Given the description of an element on the screen output the (x, y) to click on. 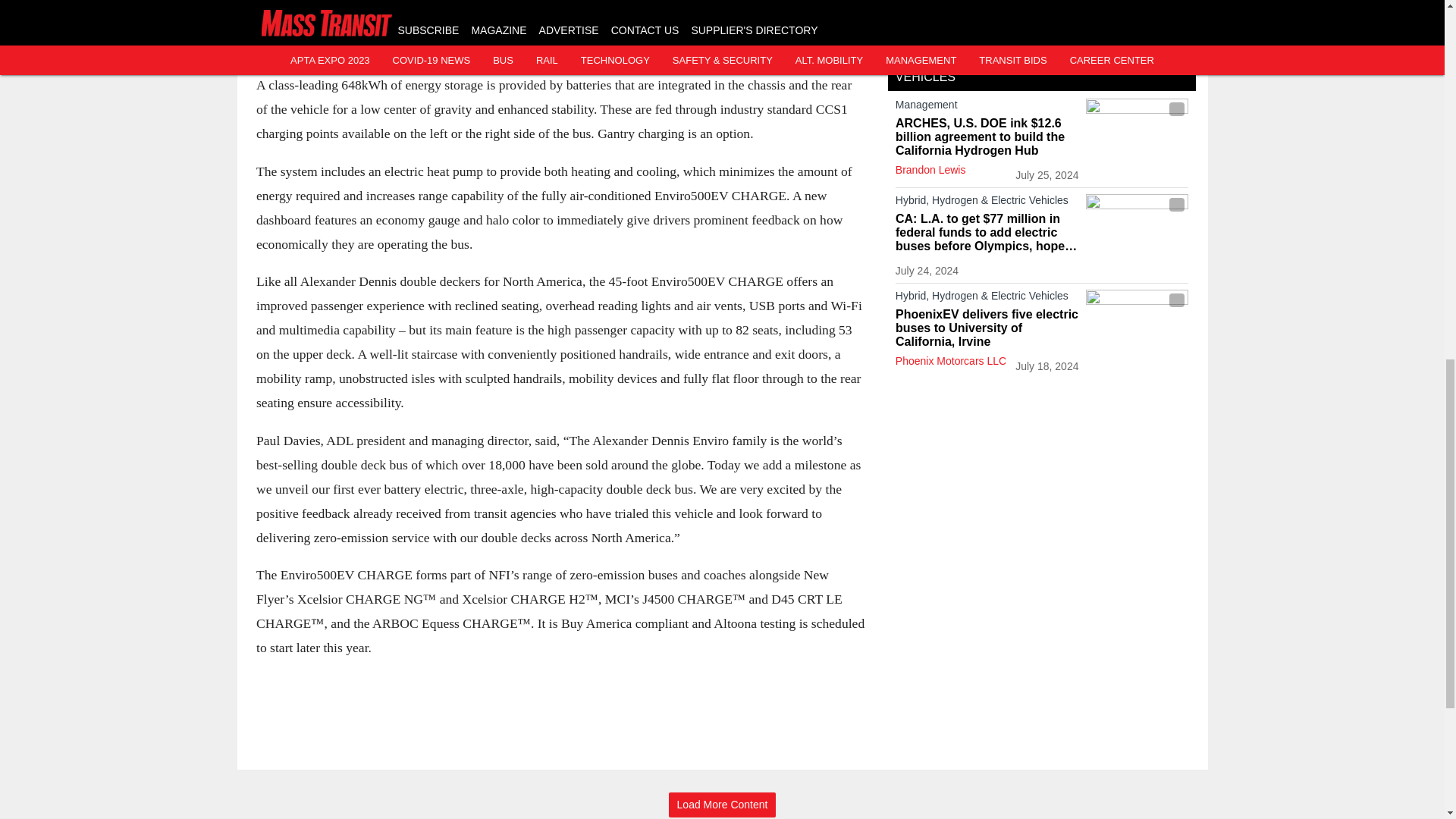
Management (986, 107)
Phoenix Motorcars LLC (950, 360)
Brandon Lewis (930, 169)
Load More Content (722, 804)
